Given the description of an element on the screen output the (x, y) to click on. 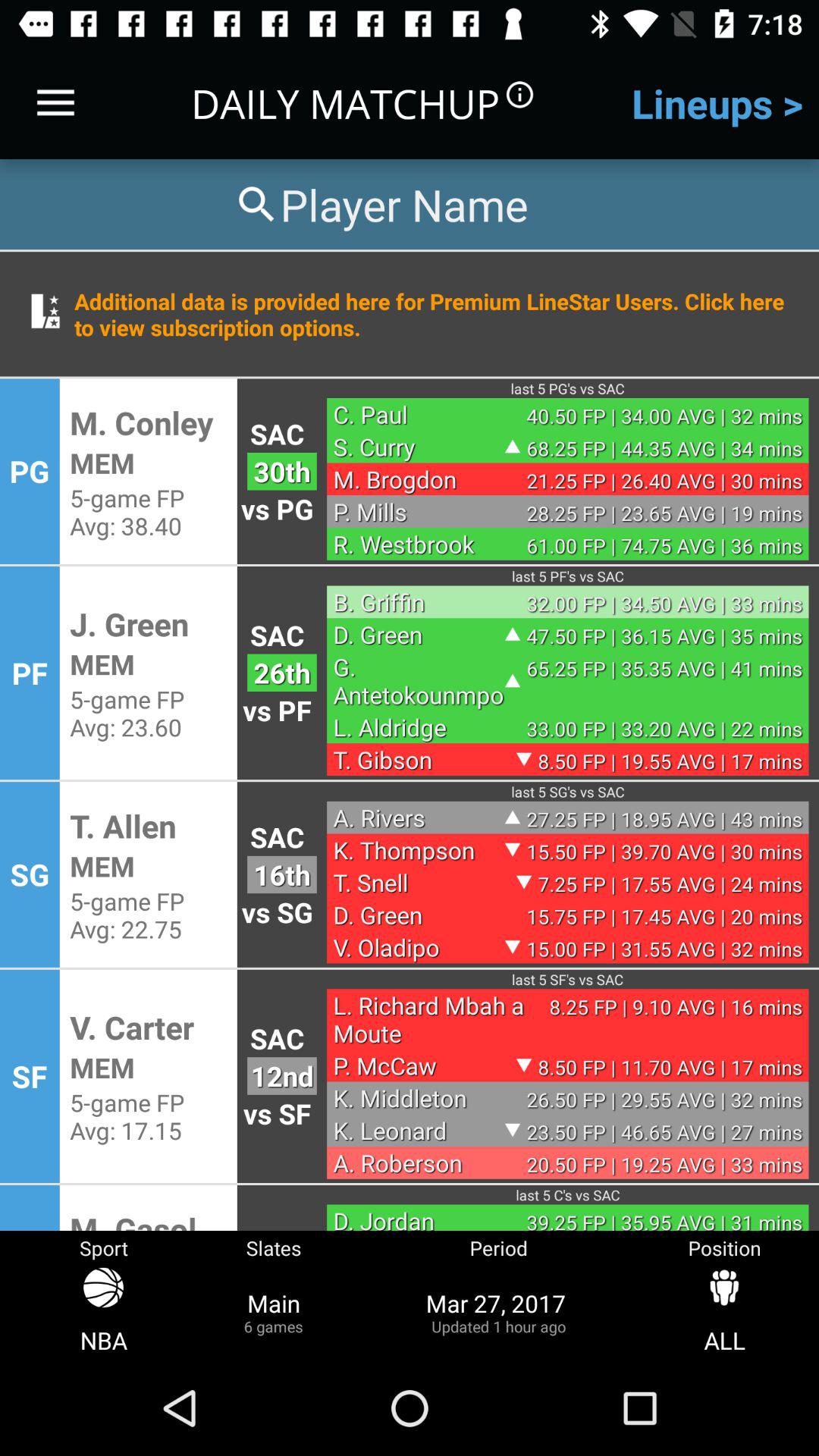
select item next to the l richard mbah item (281, 1075)
